Given the description of an element on the screen output the (x, y) to click on. 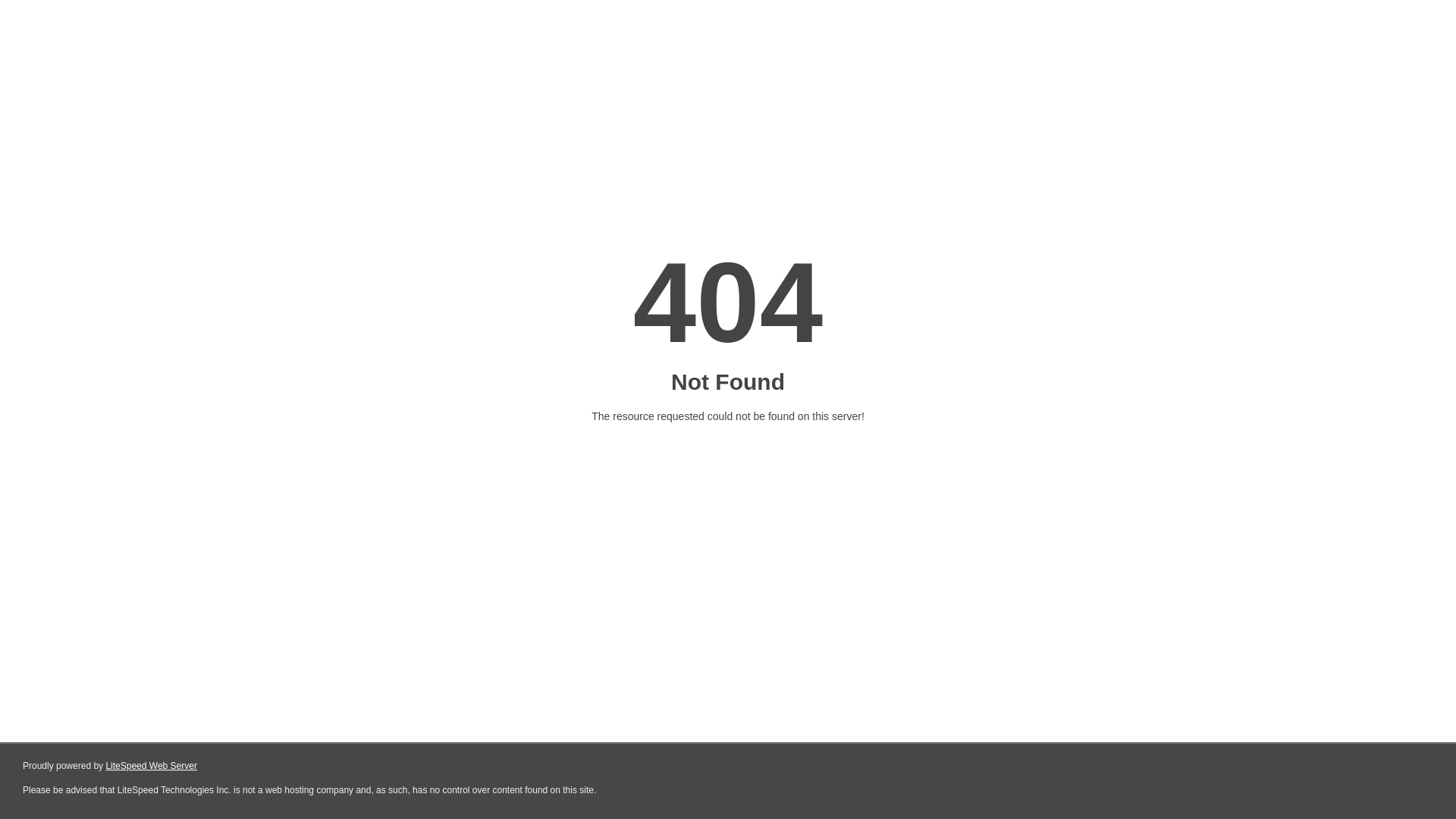
LiteSpeed Web Server Element type: text (151, 765)
